Given the description of an element on the screen output the (x, y) to click on. 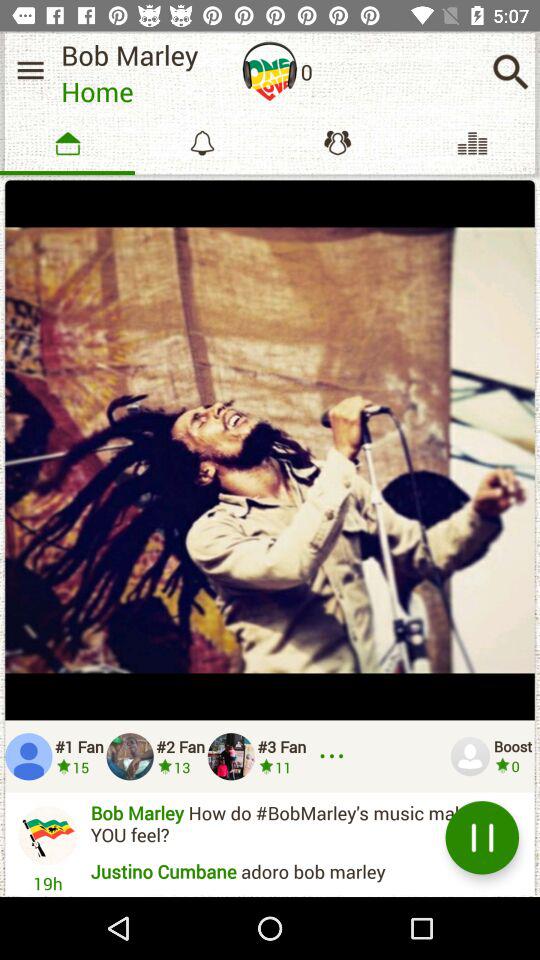
play and pause button (482, 837)
